Given the description of an element on the screen output the (x, y) to click on. 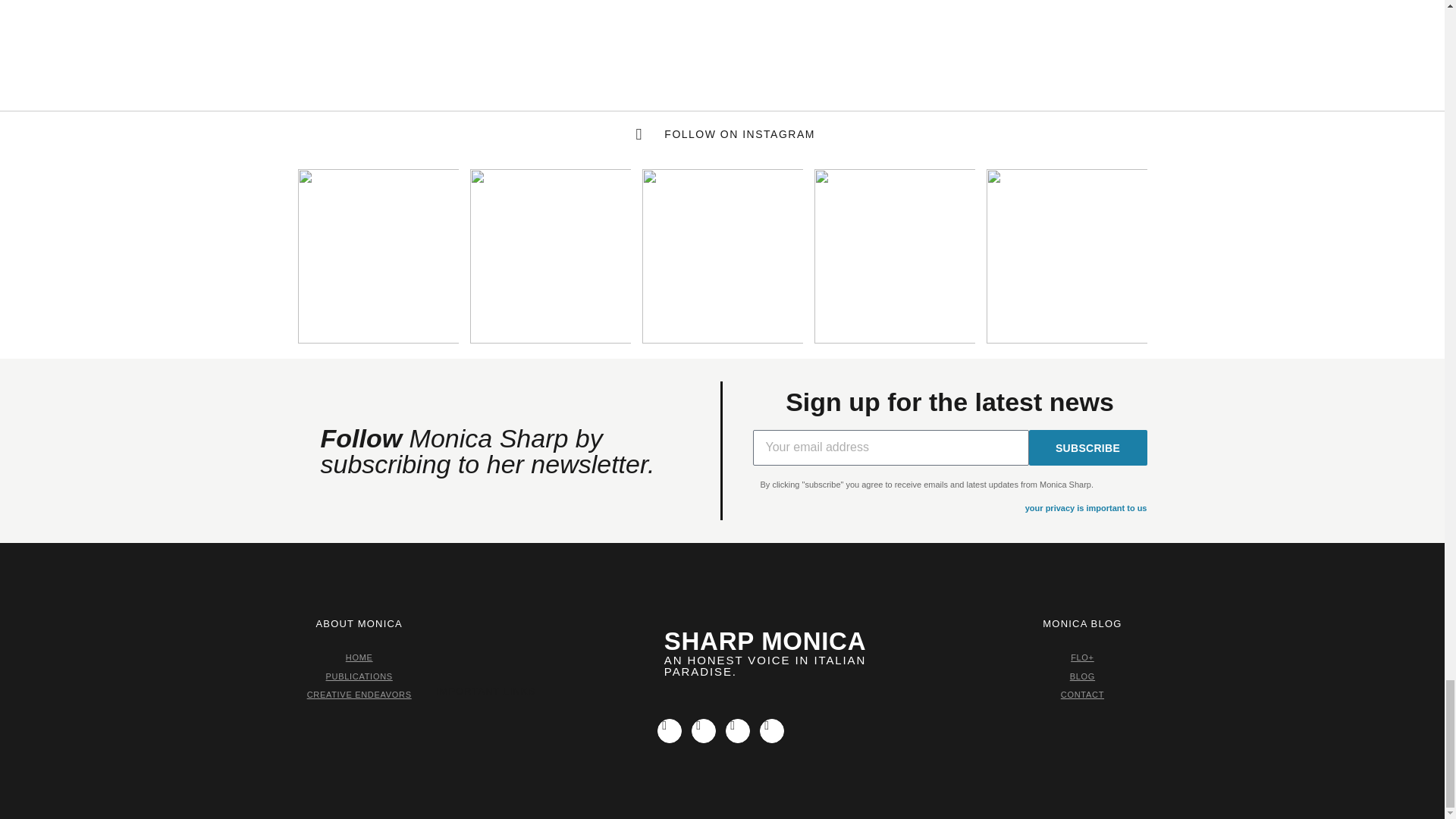
FOLLOW ON INSTAGRAM (722, 134)
SUBSCRIBE (1087, 447)
SHARP MONICA (764, 641)
